Given the description of an element on the screen output the (x, y) to click on. 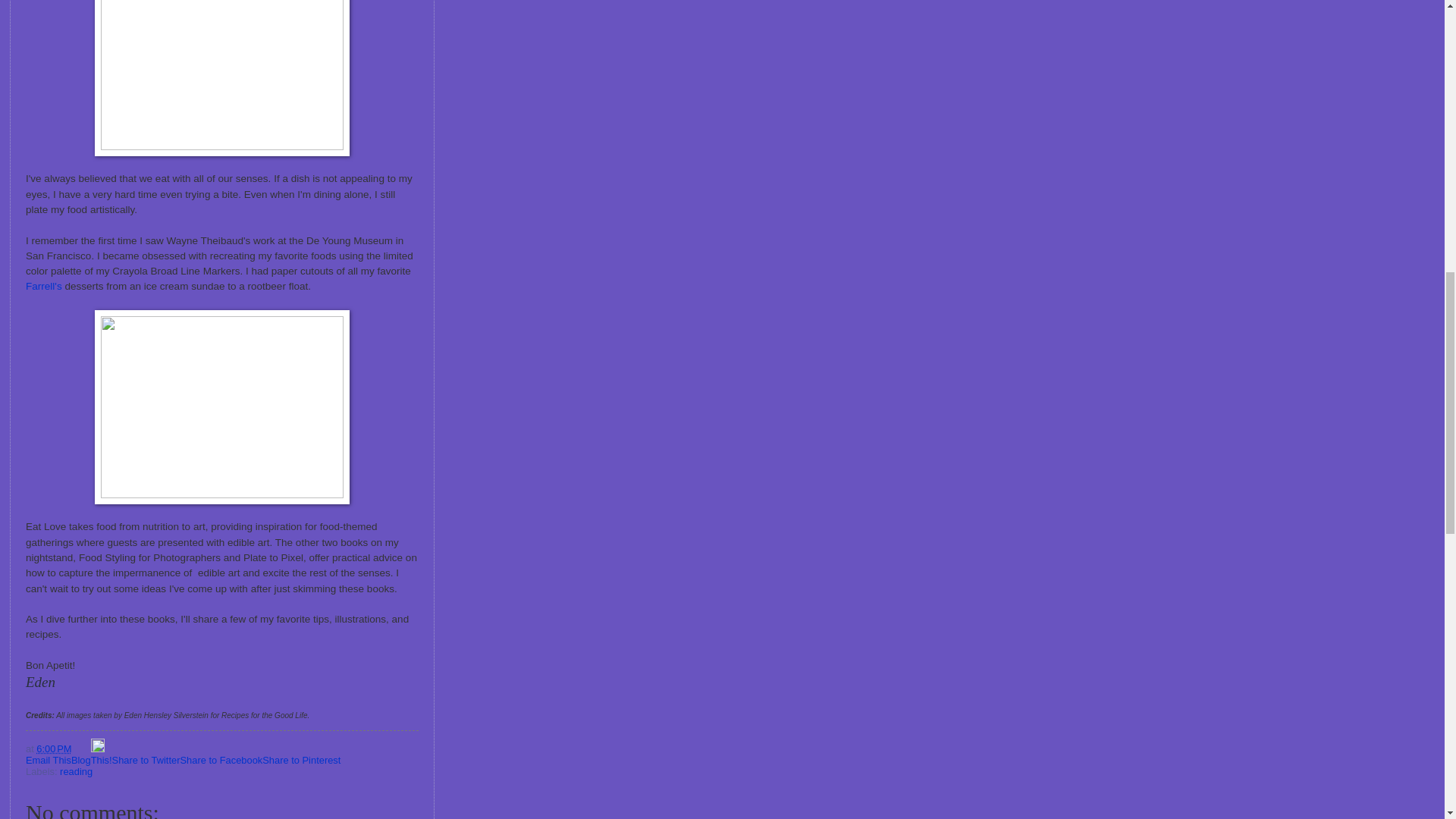
Email This (48, 759)
reading (76, 771)
Share to Pinterest (301, 759)
Share to Facebook (220, 759)
Share to Twitter (146, 759)
BlogThis! (91, 759)
Email This (48, 759)
Share to Facebook (220, 759)
Farrell's (44, 285)
Share to Pinterest (301, 759)
Edit Post (97, 748)
permanent link (53, 748)
Share to Twitter (146, 759)
Email Post (82, 748)
